Given the description of an element on the screen output the (x, y) to click on. 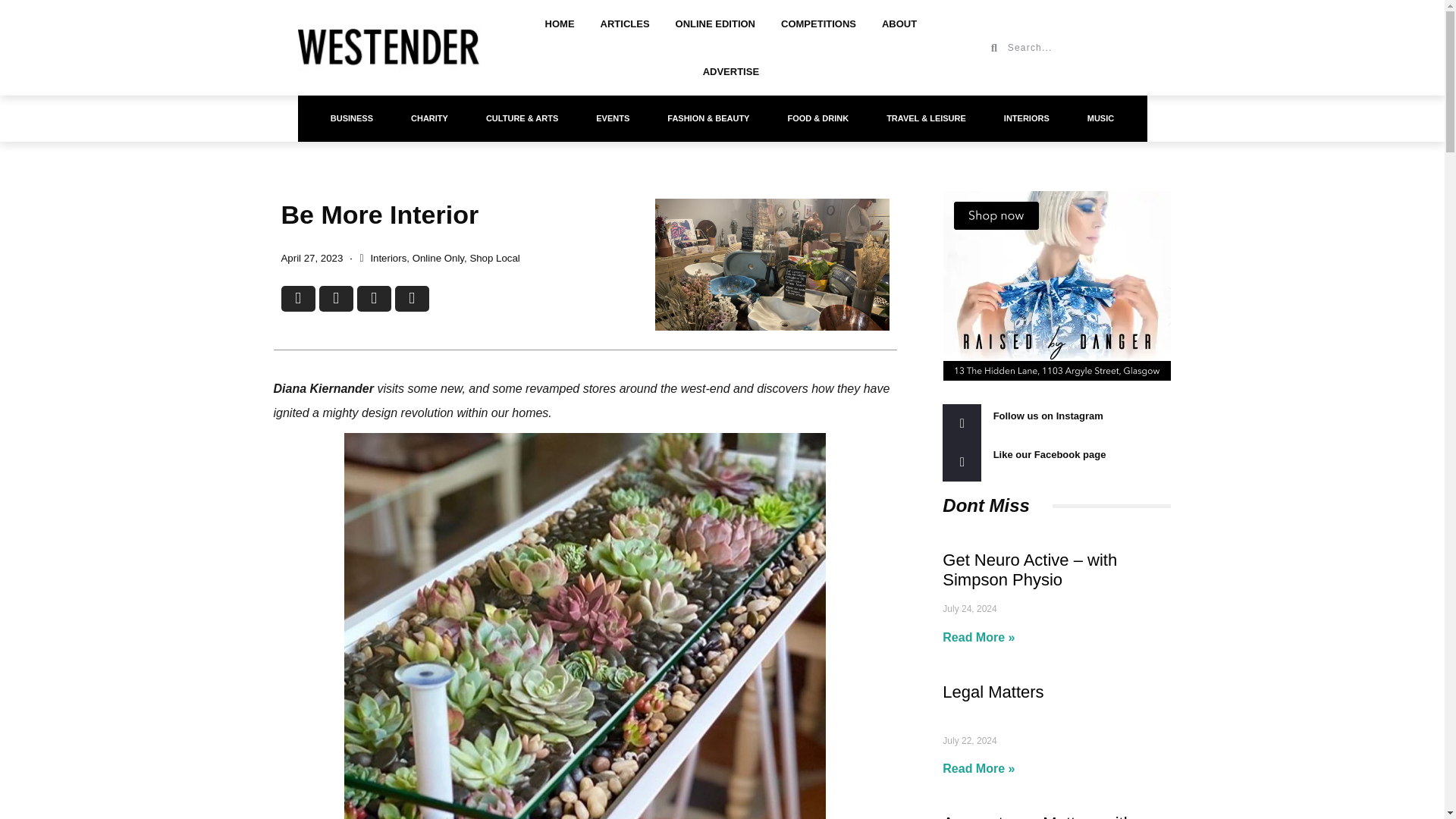
CHARITY (429, 118)
ADVERTISE (730, 71)
MUSIC (1100, 118)
INTERIORS (1026, 118)
ARTICLES (625, 23)
ONLINE EDITION (715, 23)
ABOUT (899, 23)
COMPETITIONS (818, 23)
HOME (560, 23)
EVENTS (611, 118)
BUSINESS (351, 118)
westender-logo-1 (388, 47)
